Given the description of an element on the screen output the (x, y) to click on. 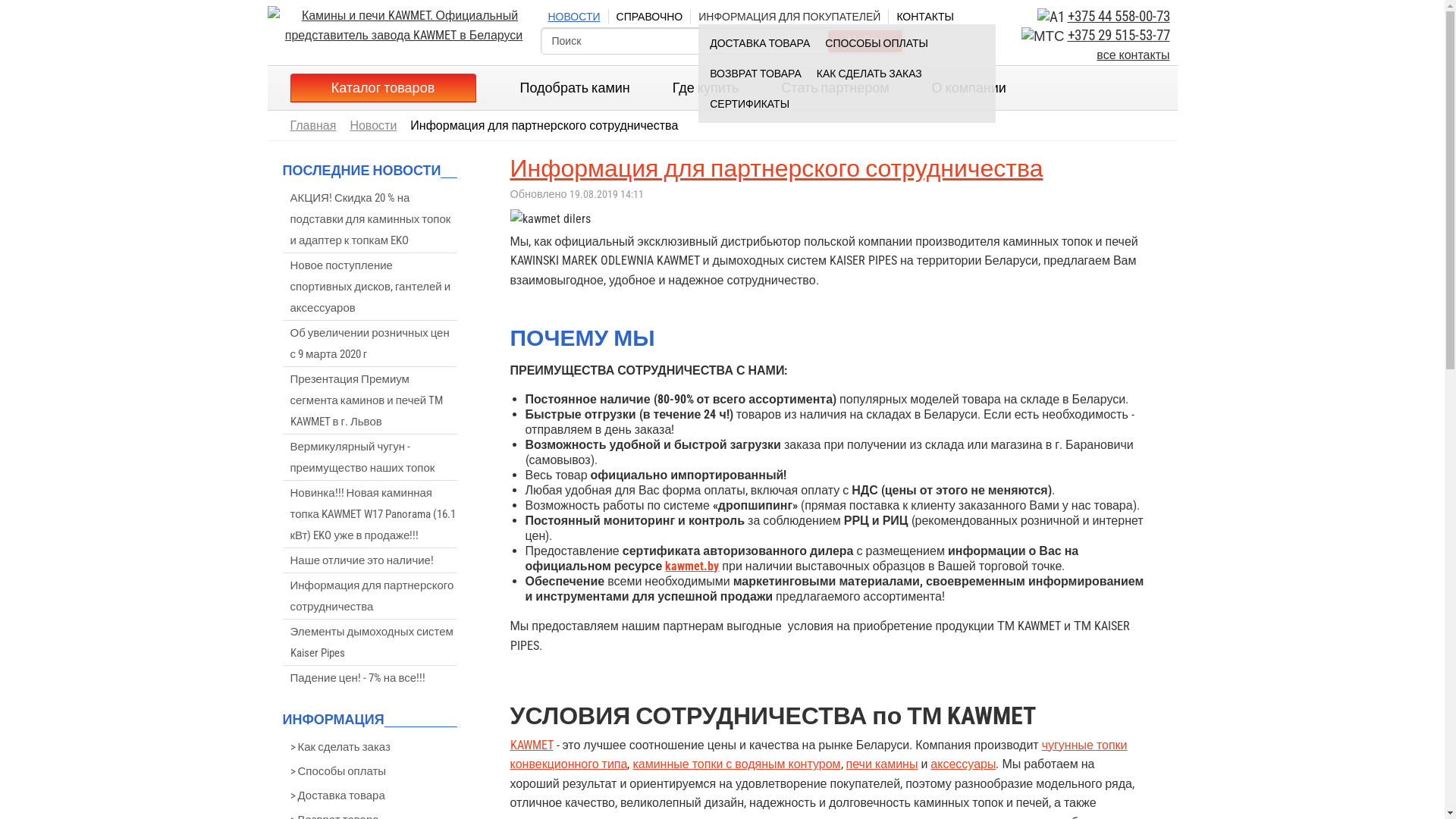
+375 44 558-00-73 Element type: text (1118, 16)
+375 29 515-53-77 Element type: text (1118, 35)
kawmet.by Element type: text (691, 565)
KAWMET Element type: text (530, 744)
